Given the description of an element on the screen output the (x, y) to click on. 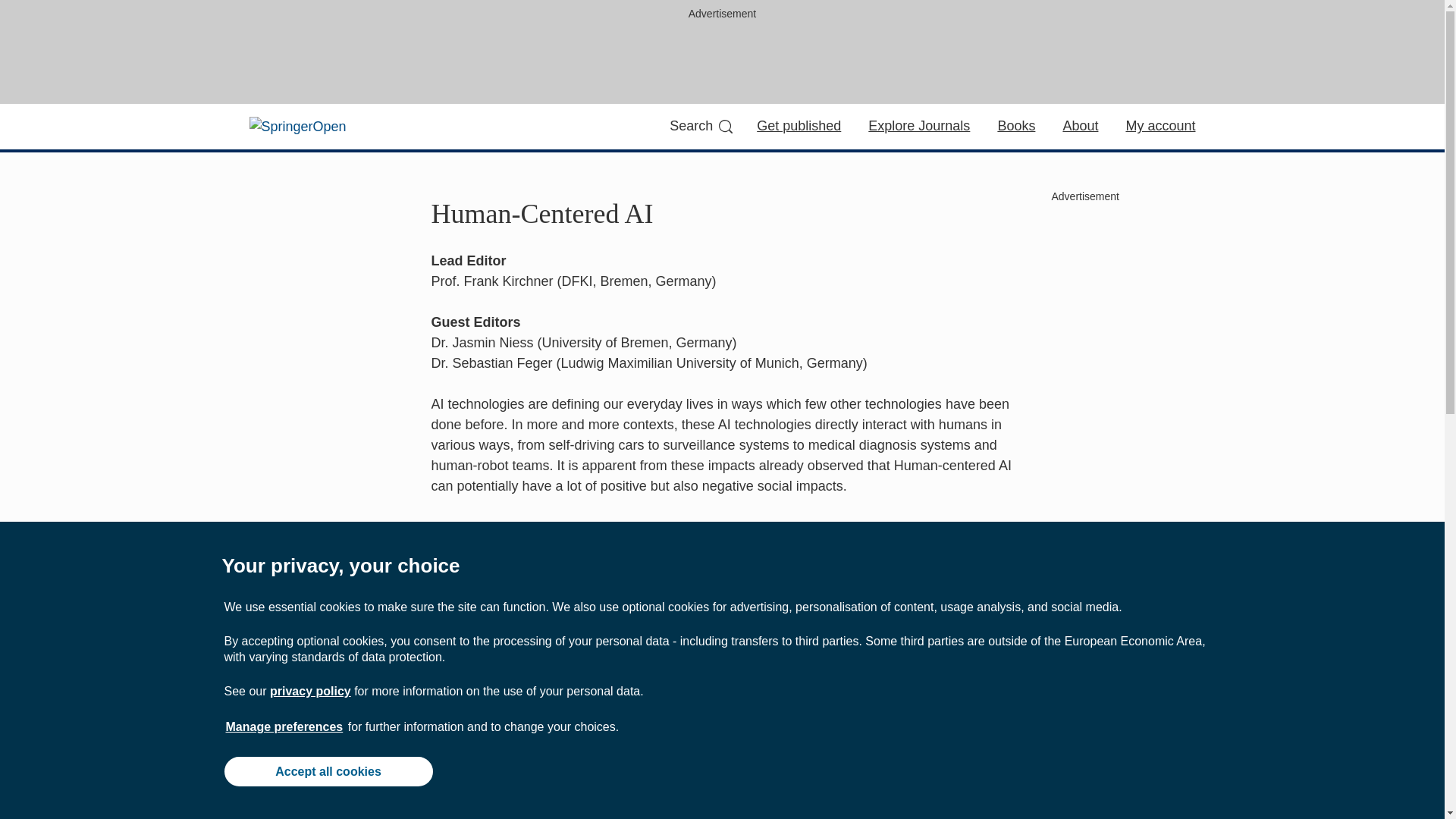
Collections (801, 649)
Books (1016, 125)
Explore Journals (918, 125)
Accept all cookies (328, 771)
Human-centered AI and robotics (549, 713)
Search (700, 126)
standard policies (536, 649)
My account (1160, 125)
Manage preferences (284, 726)
About (1079, 125)
